Given the description of an element on the screen output the (x, y) to click on. 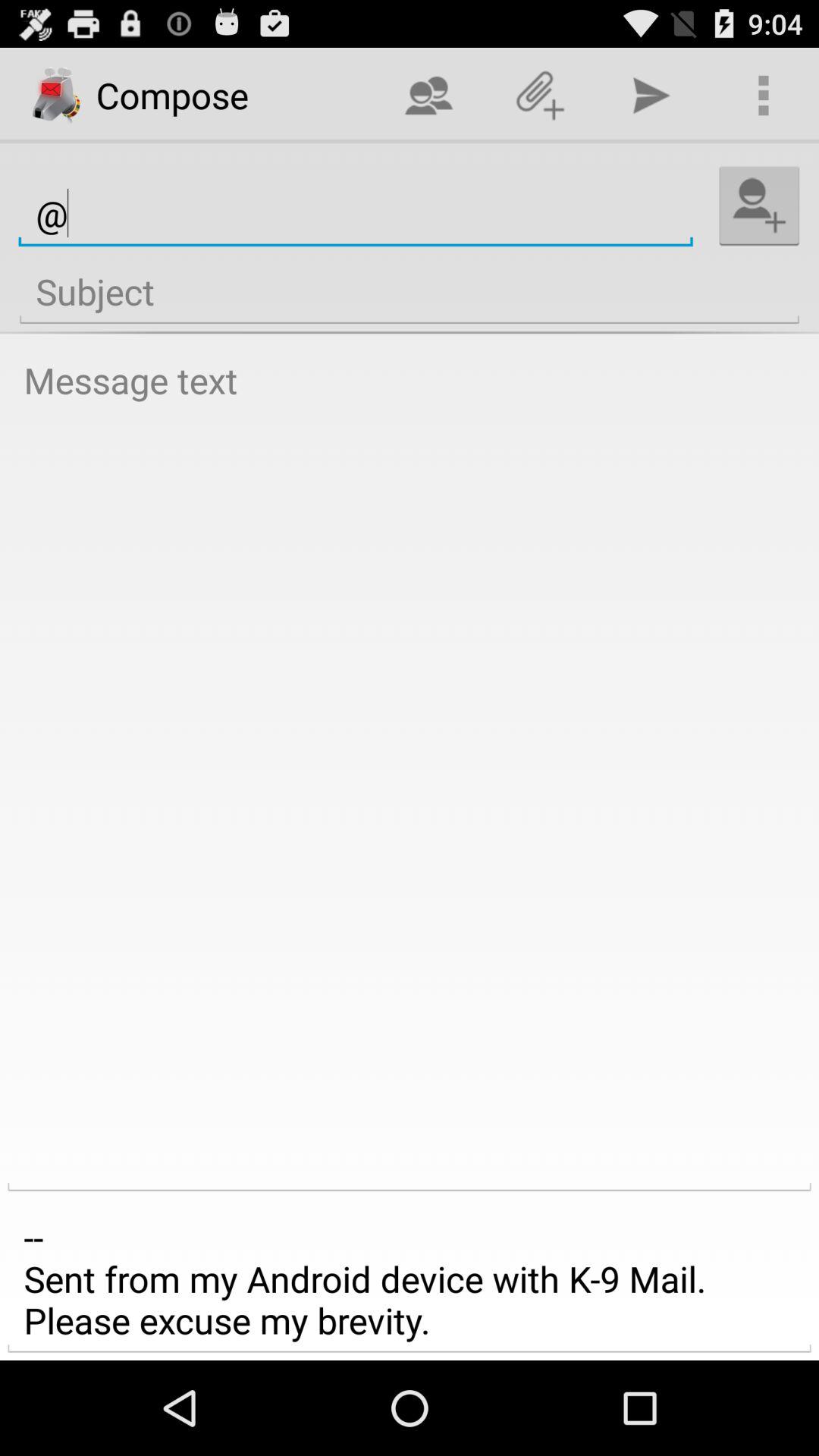
open text box (409, 769)
